Given the description of an element on the screen output the (x, y) to click on. 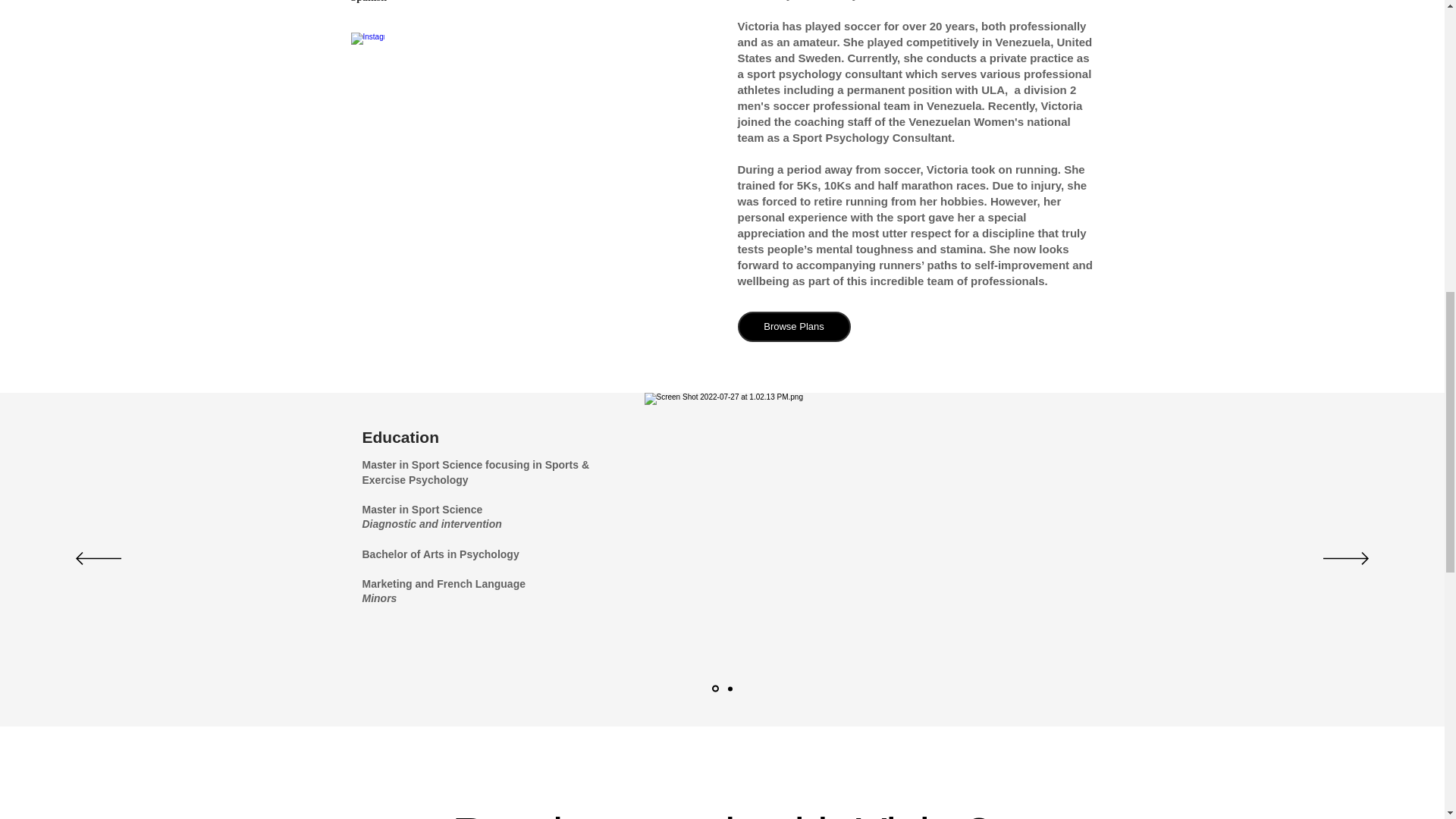
Browse Plans (793, 327)
